Given the description of an element on the screen output the (x, y) to click on. 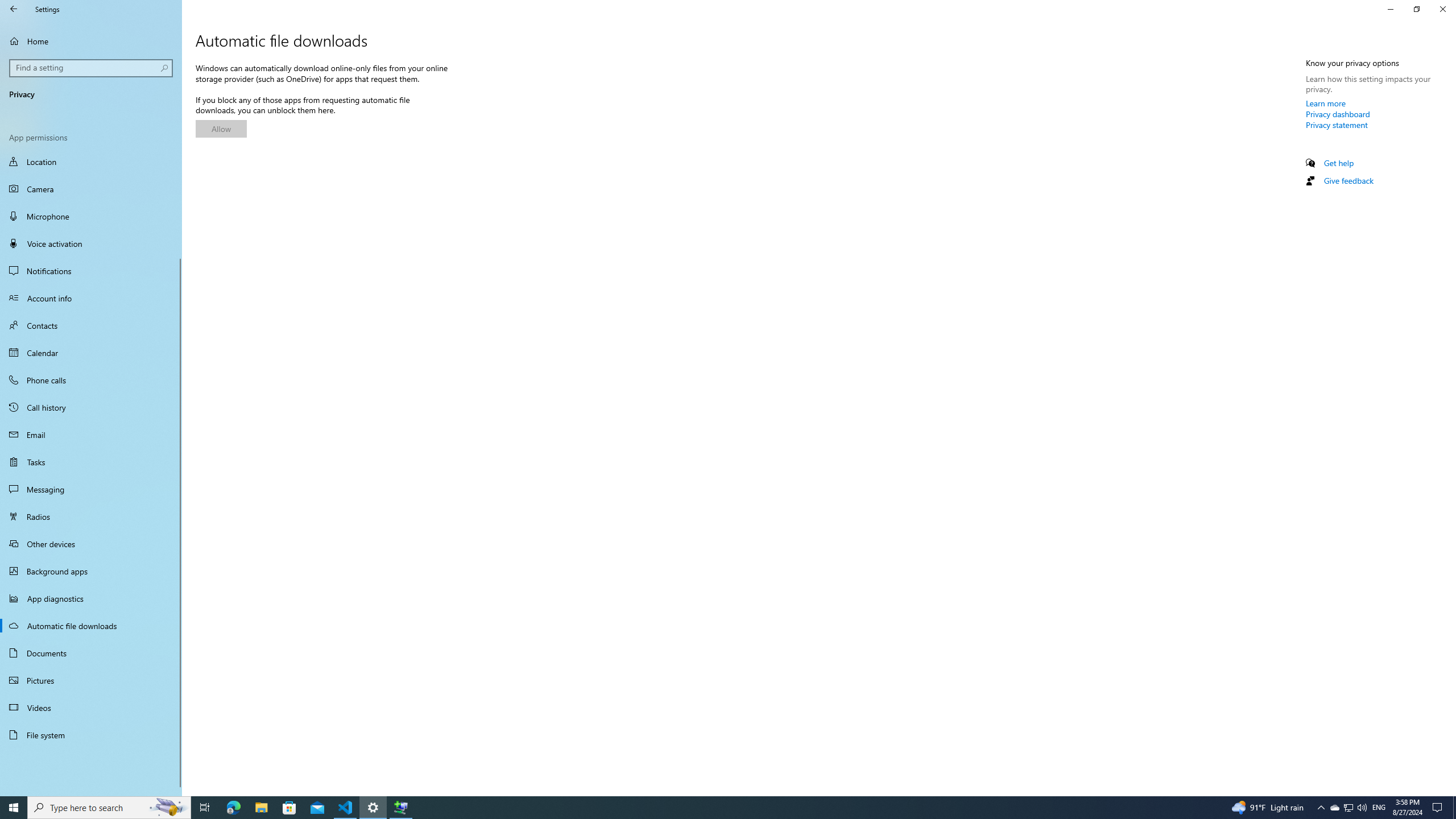
Privacy dashboard (1338, 113)
Microphone (91, 216)
Privacy statement (1336, 124)
Automatic file downloads (91, 625)
Camera (91, 188)
Documents (91, 652)
Phone calls (91, 379)
